Given the description of an element on the screen output the (x, y) to click on. 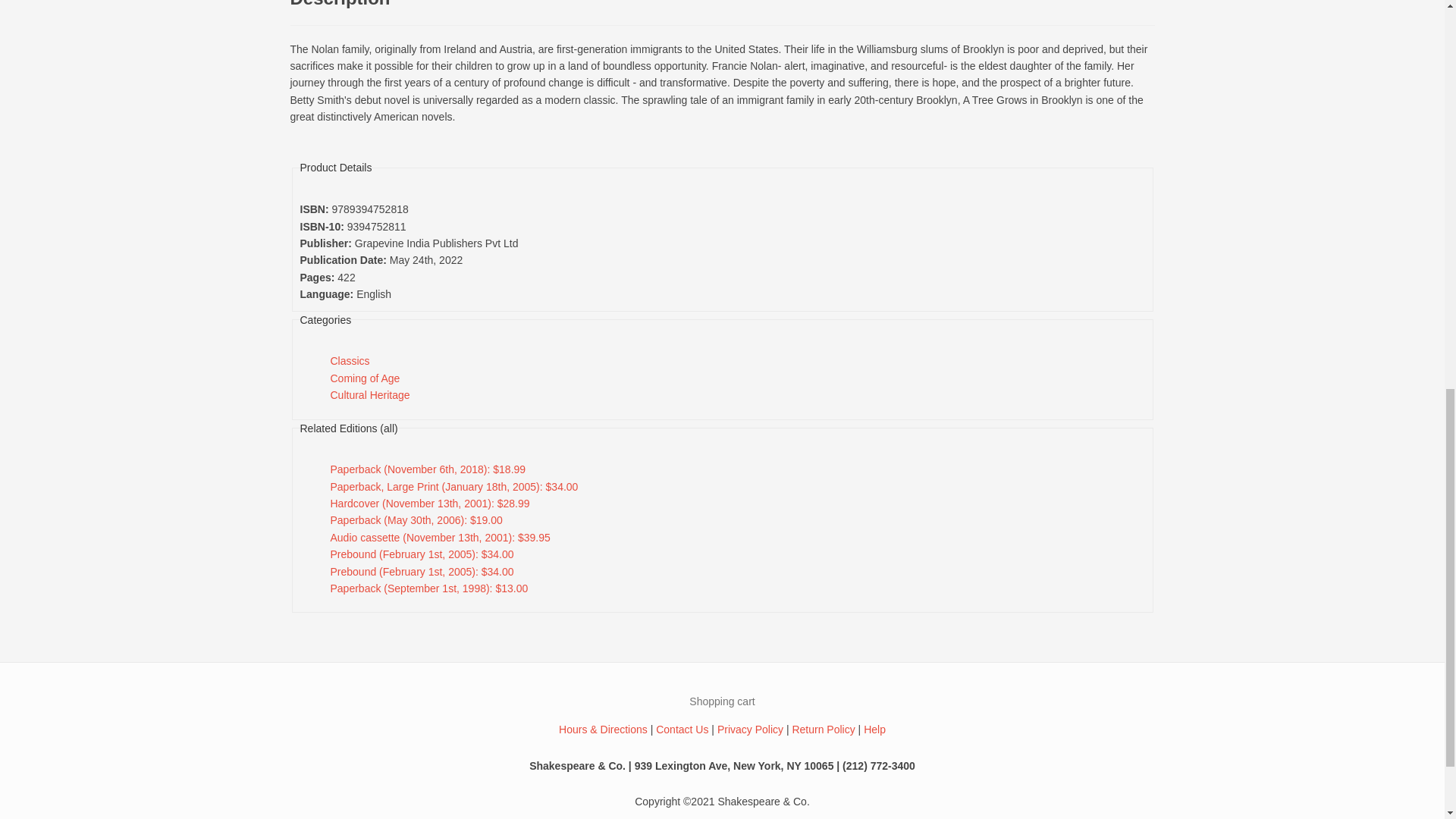
Coming of Age (365, 378)
Classics (349, 360)
Cultural Heritage (370, 395)
